Given the description of an element on the screen output the (x, y) to click on. 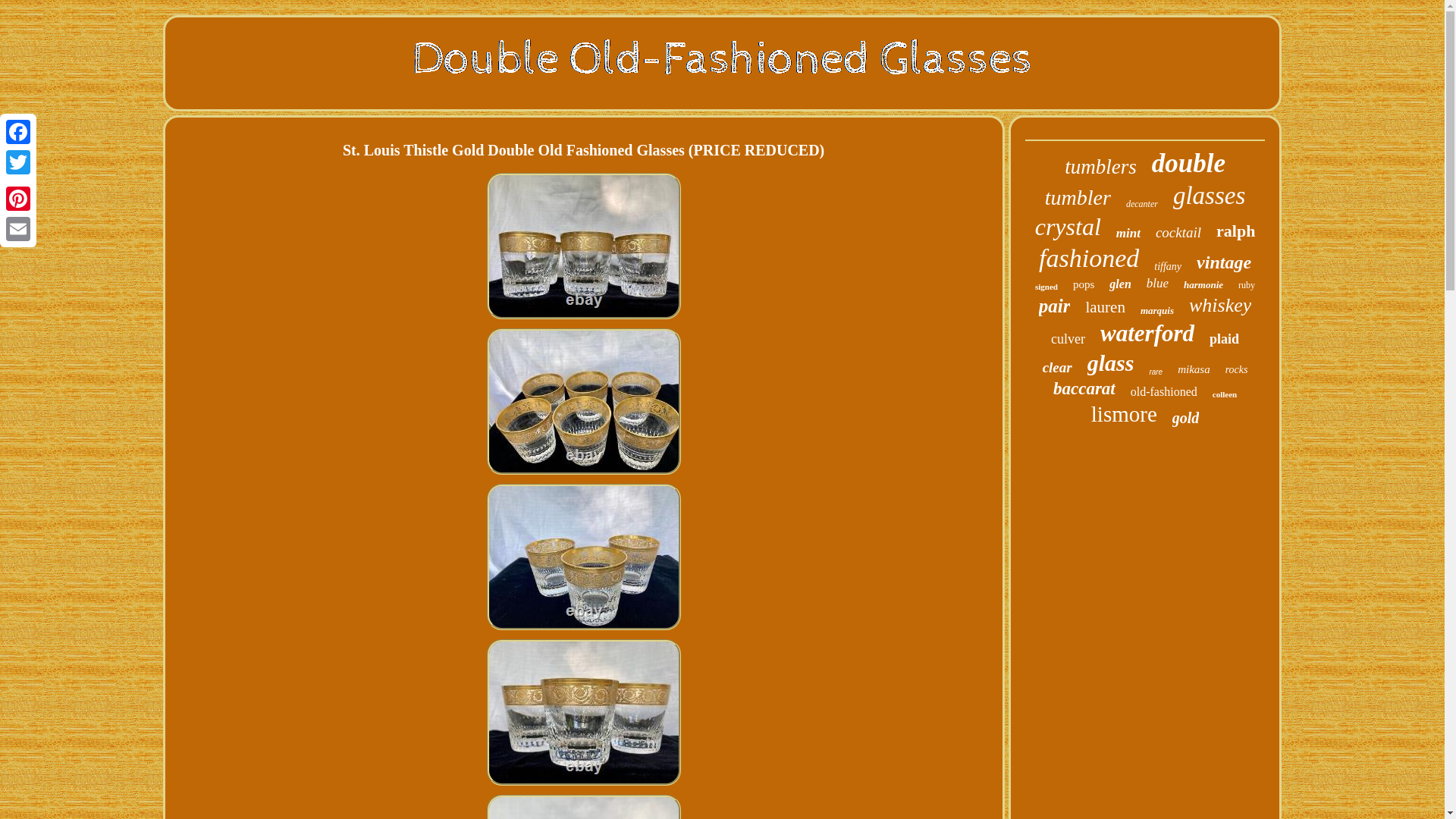
fashioned (1088, 258)
harmonie (1203, 285)
tiffany (1167, 266)
pops (1083, 284)
whiskey (1219, 305)
waterford (1146, 333)
Facebook (17, 132)
glen (1120, 284)
marquis (1156, 310)
tumbler (1077, 197)
